Given the description of an element on the screen output the (x, y) to click on. 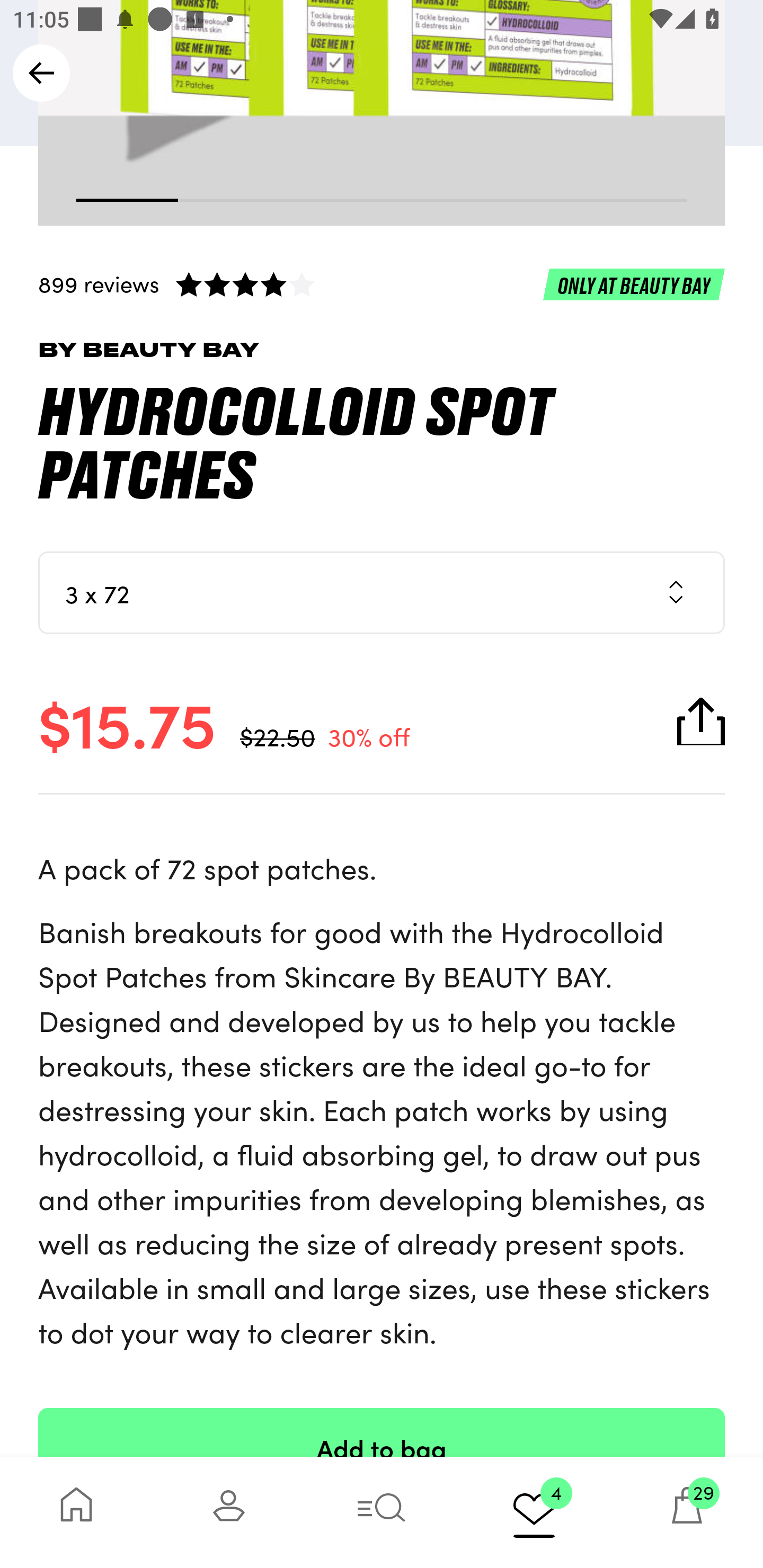
899 reviews (381, 283)
3 x 72    (381, 592)
4 (533, 1512)
29 (686, 1512)
